Given the description of an element on the screen output the (x, y) to click on. 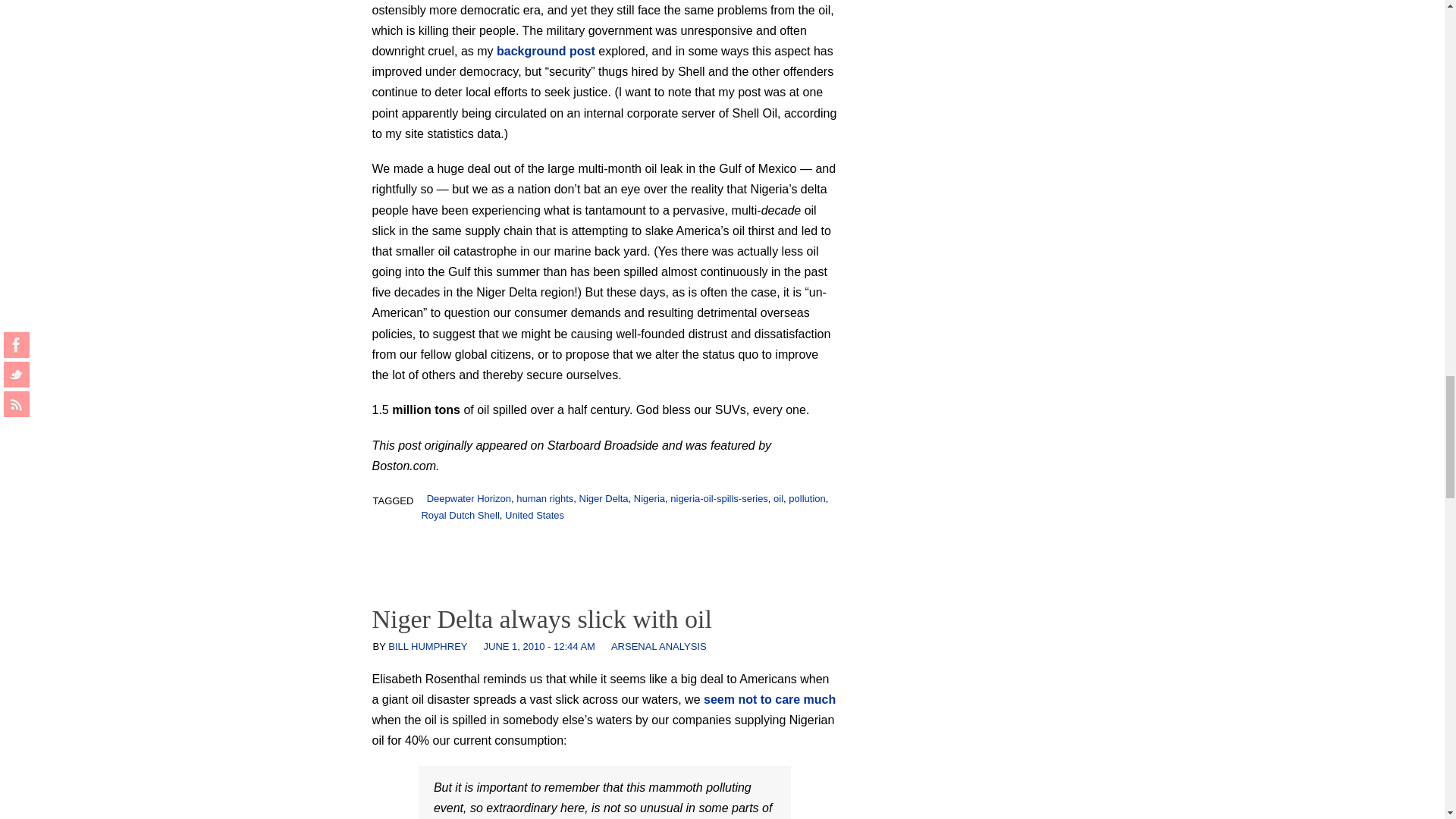
View all posts by Bill Humphrey (427, 645)
Permalink to Niger Delta always slick with oil (541, 619)
